Given the description of an element on the screen output the (x, y) to click on. 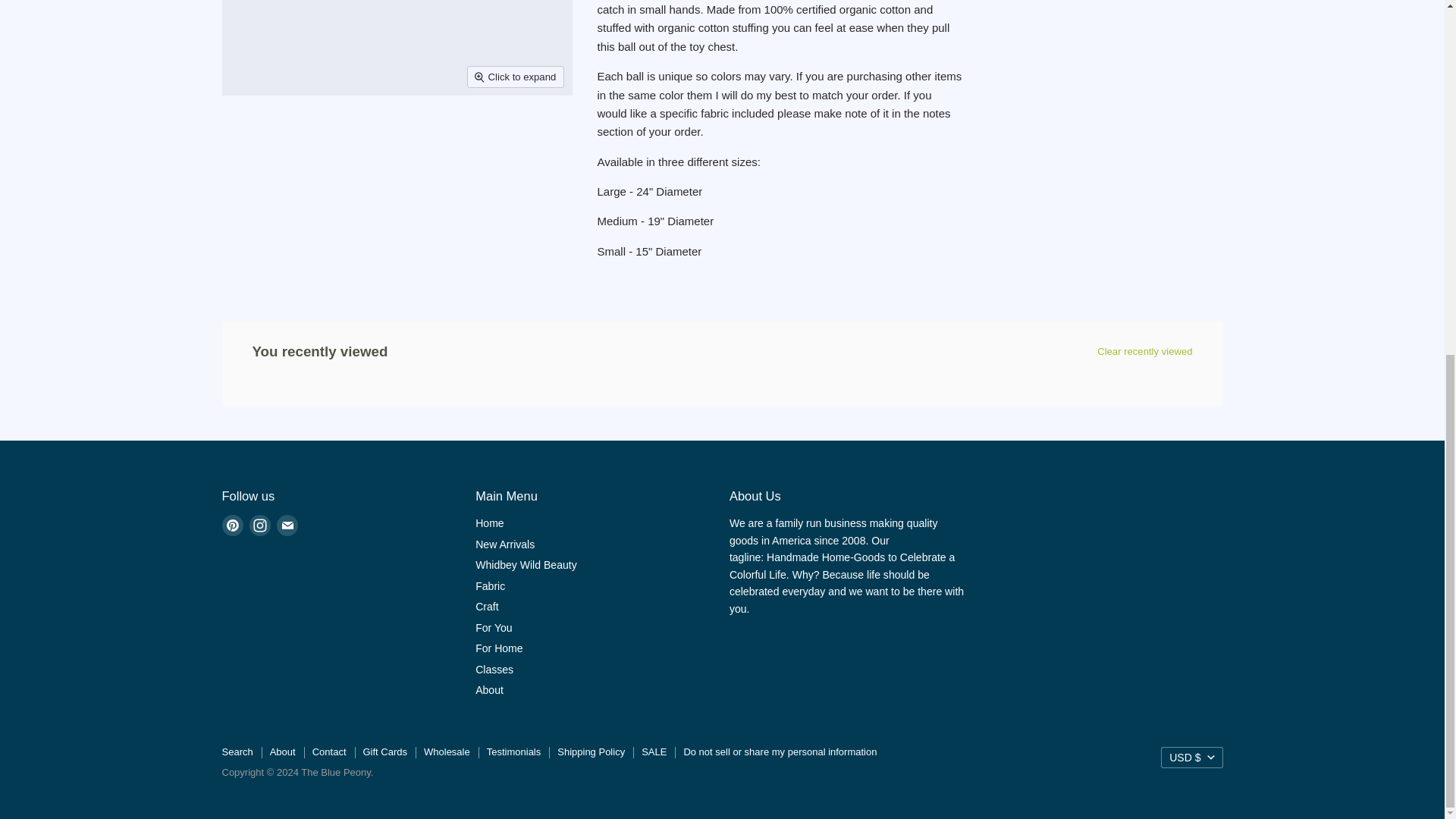
E-mail (286, 524)
Pinterest (232, 524)
Instagram (259, 524)
